Given the description of an element on the screen output the (x, y) to click on. 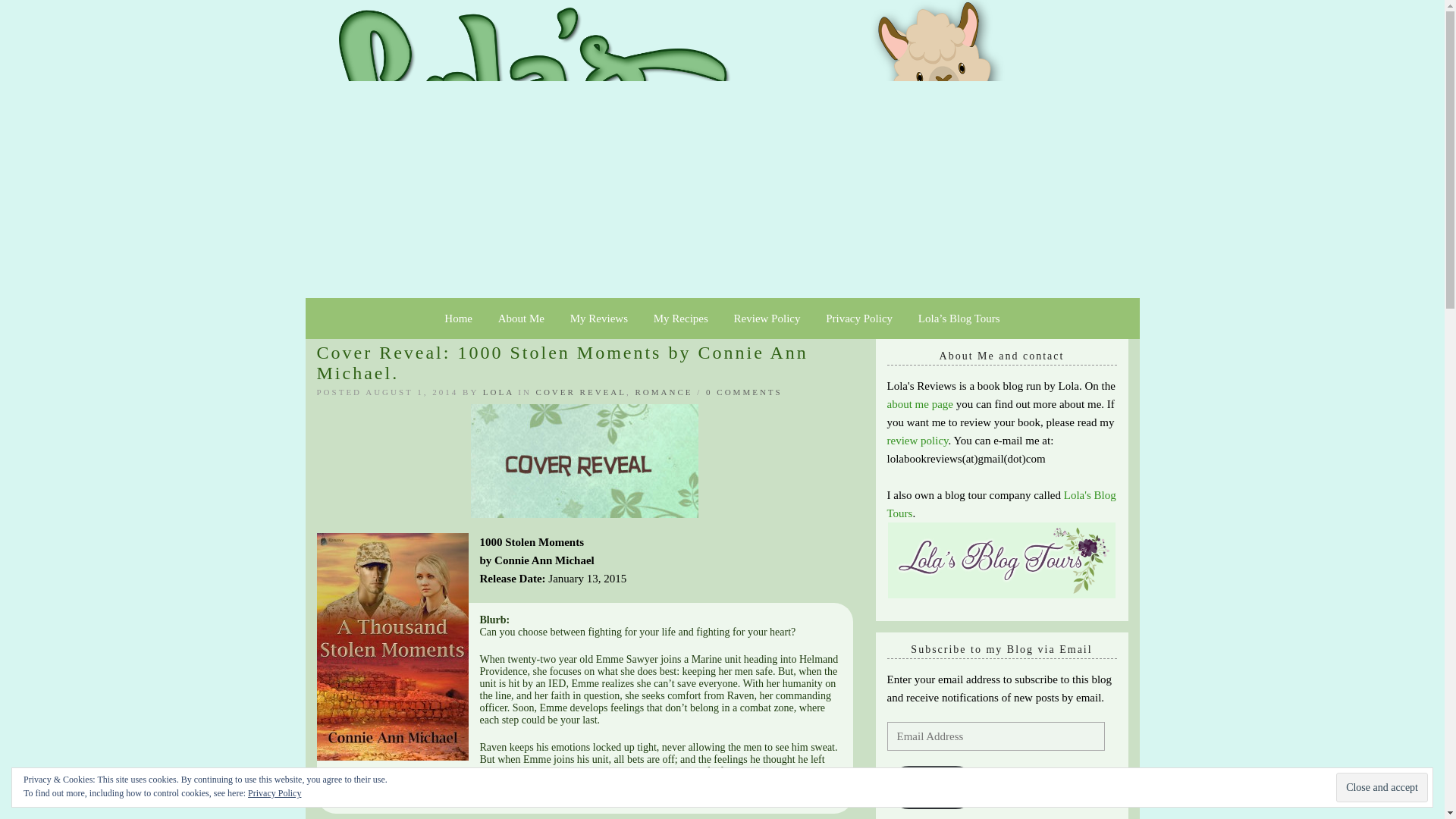
Privacy Policy (858, 318)
LOLA (498, 391)
about me page (919, 404)
review policy (917, 440)
Home (457, 318)
My Reviews (599, 318)
ROMANCE (663, 391)
0 COMMENTS (744, 391)
About Me (521, 318)
Close and accept (1382, 787)
